Given the description of an element on the screen output the (x, y) to click on. 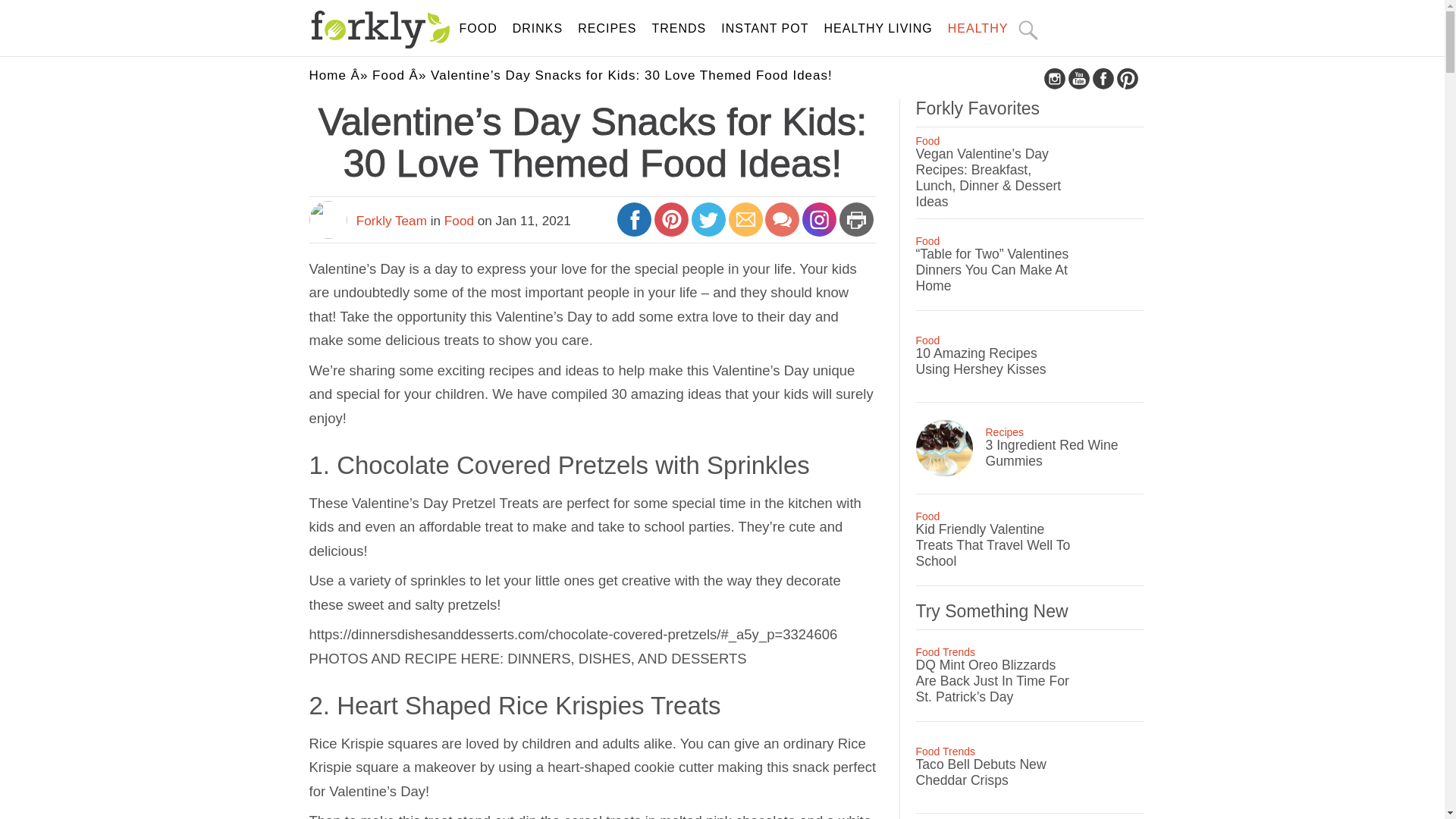
TRENDS (678, 28)
Home (327, 74)
DRINKS (537, 28)
Food (388, 74)
Posts by Forkly Team (391, 220)
FOOD (478, 28)
Food (459, 220)
INSTANT POT (764, 28)
RECIPES (607, 28)
HEALTHY LIVING (878, 28)
